Given the description of an element on the screen output the (x, y) to click on. 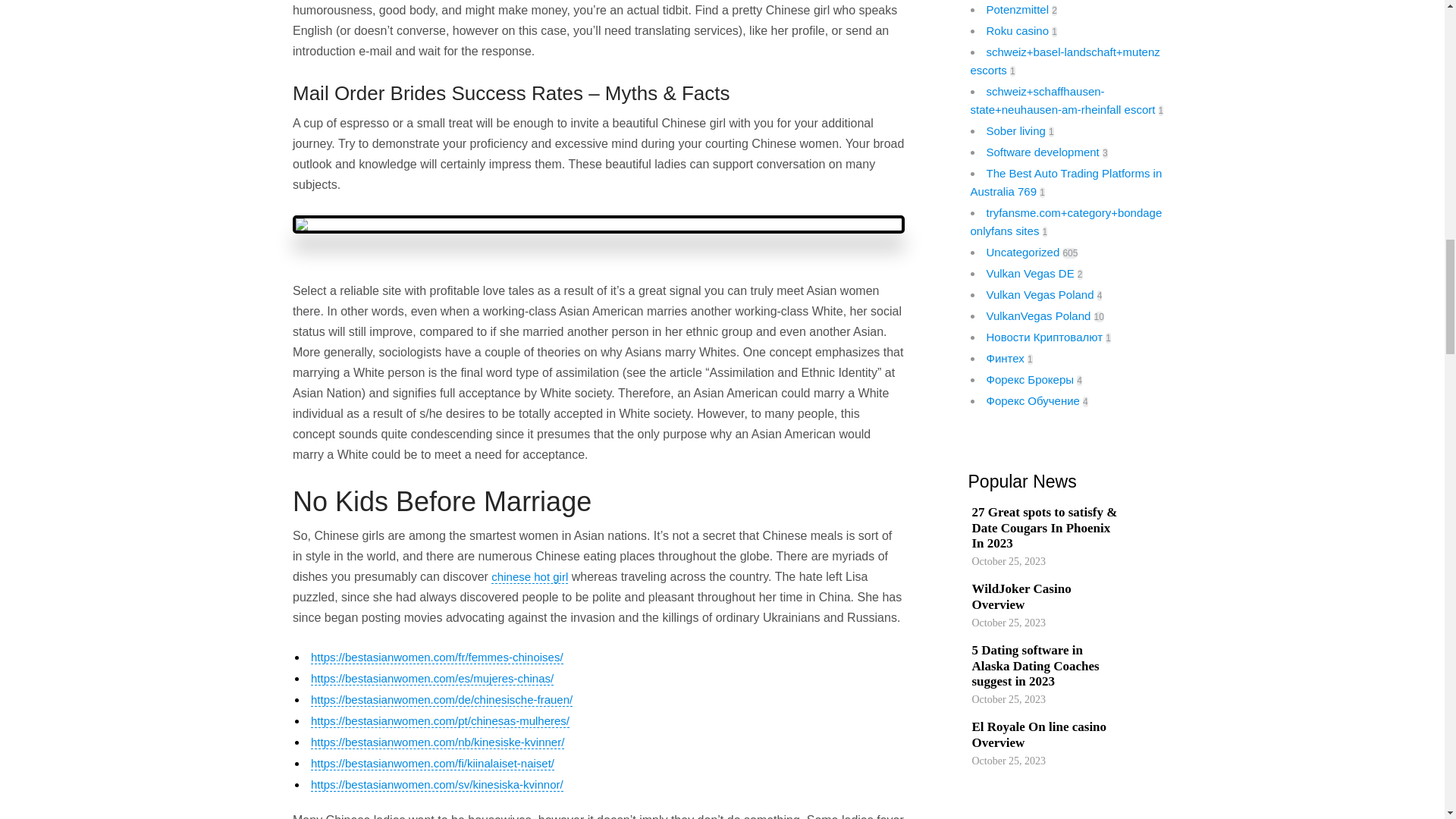
WildJoker Casino Overview (1027, 596)
El Royale On line casino Overview (1040, 735)
chinese hot girl (529, 576)
5 Dating software in Alaska Dating Coaches suggest in 2023 (1045, 665)
